Given the description of an element on the screen output the (x, y) to click on. 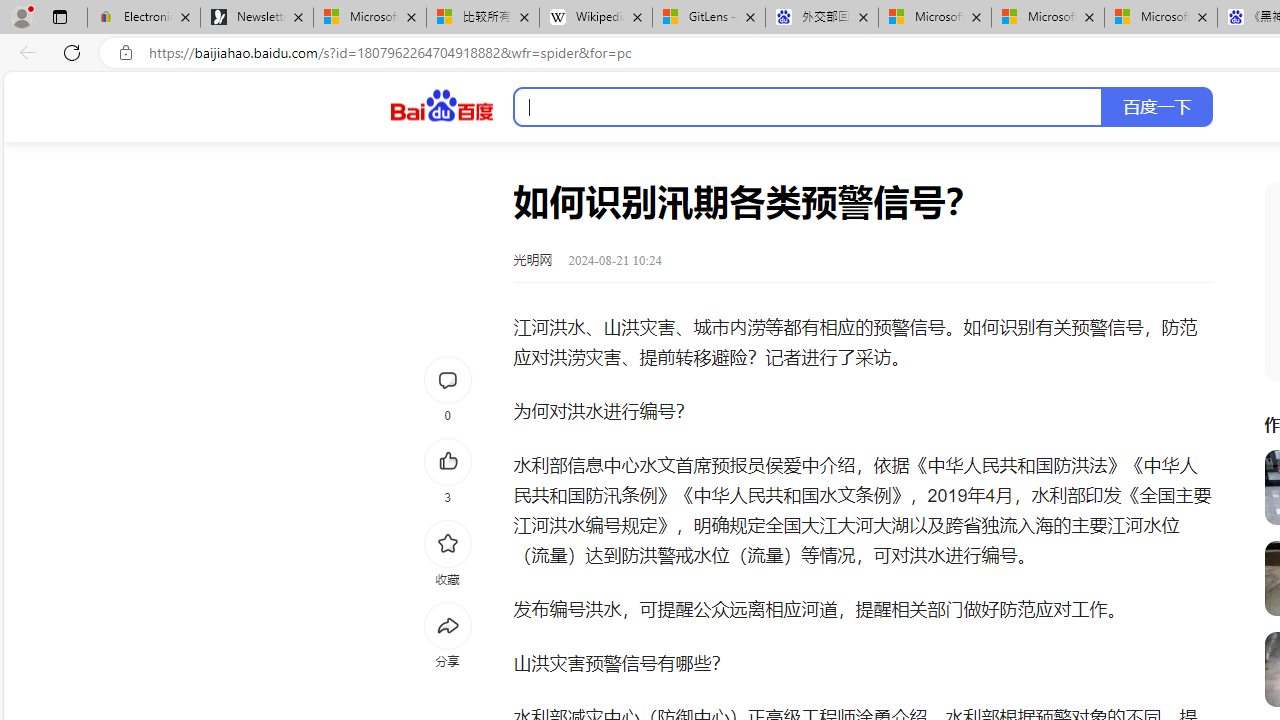
Class: _2C4fV (808, 107)
Newsletter Sign Up (257, 17)
